Given the description of an element on the screen output the (x, y) to click on. 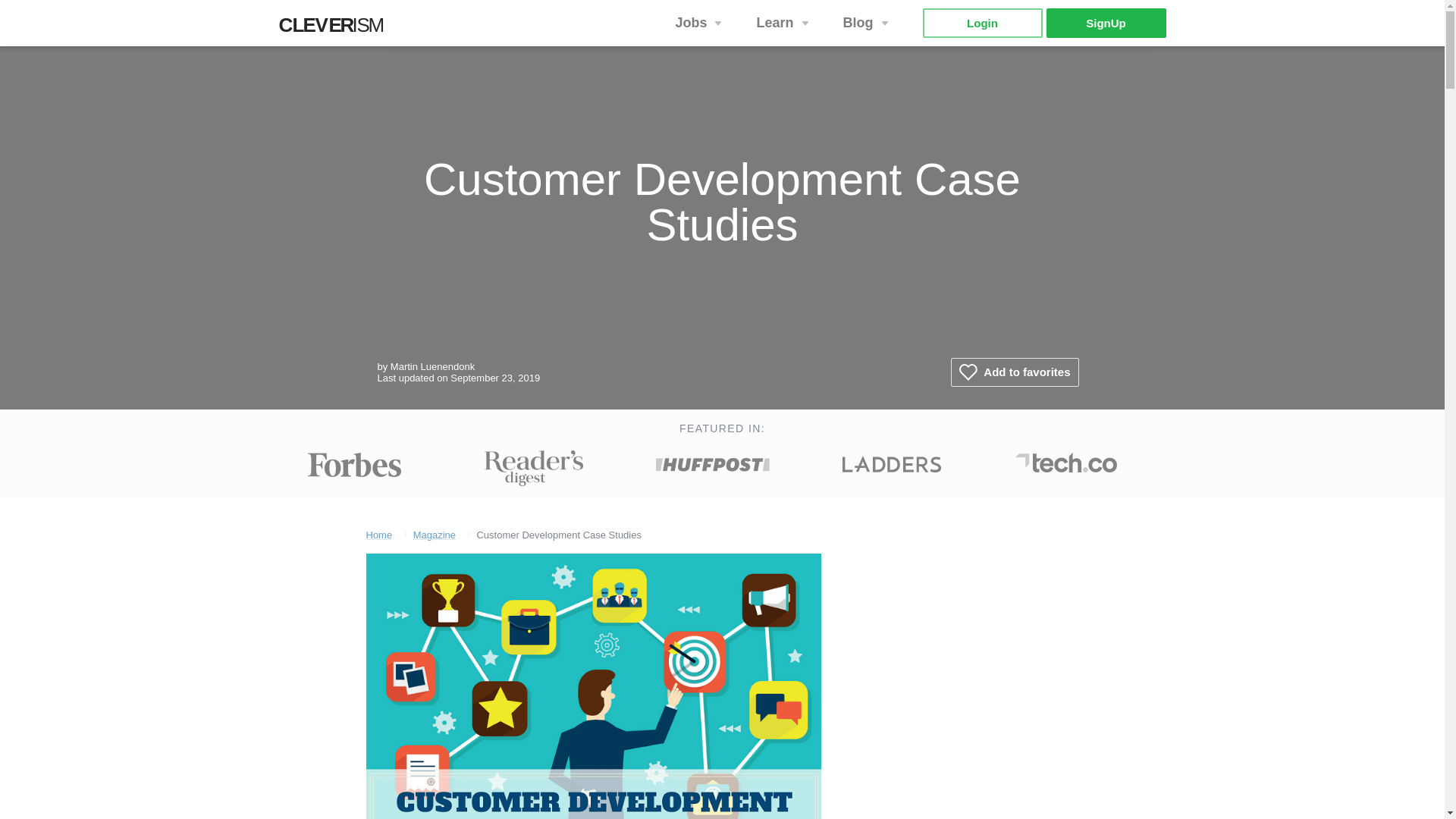
Learn (783, 22)
Customer Development Case Studies (336, 28)
Login (593, 686)
Blog (981, 22)
SignUp (867, 22)
Add to favorites (1106, 22)
Jobs (1014, 371)
Home (700, 22)
Magazine (378, 534)
